Given the description of an element on the screen output the (x, y) to click on. 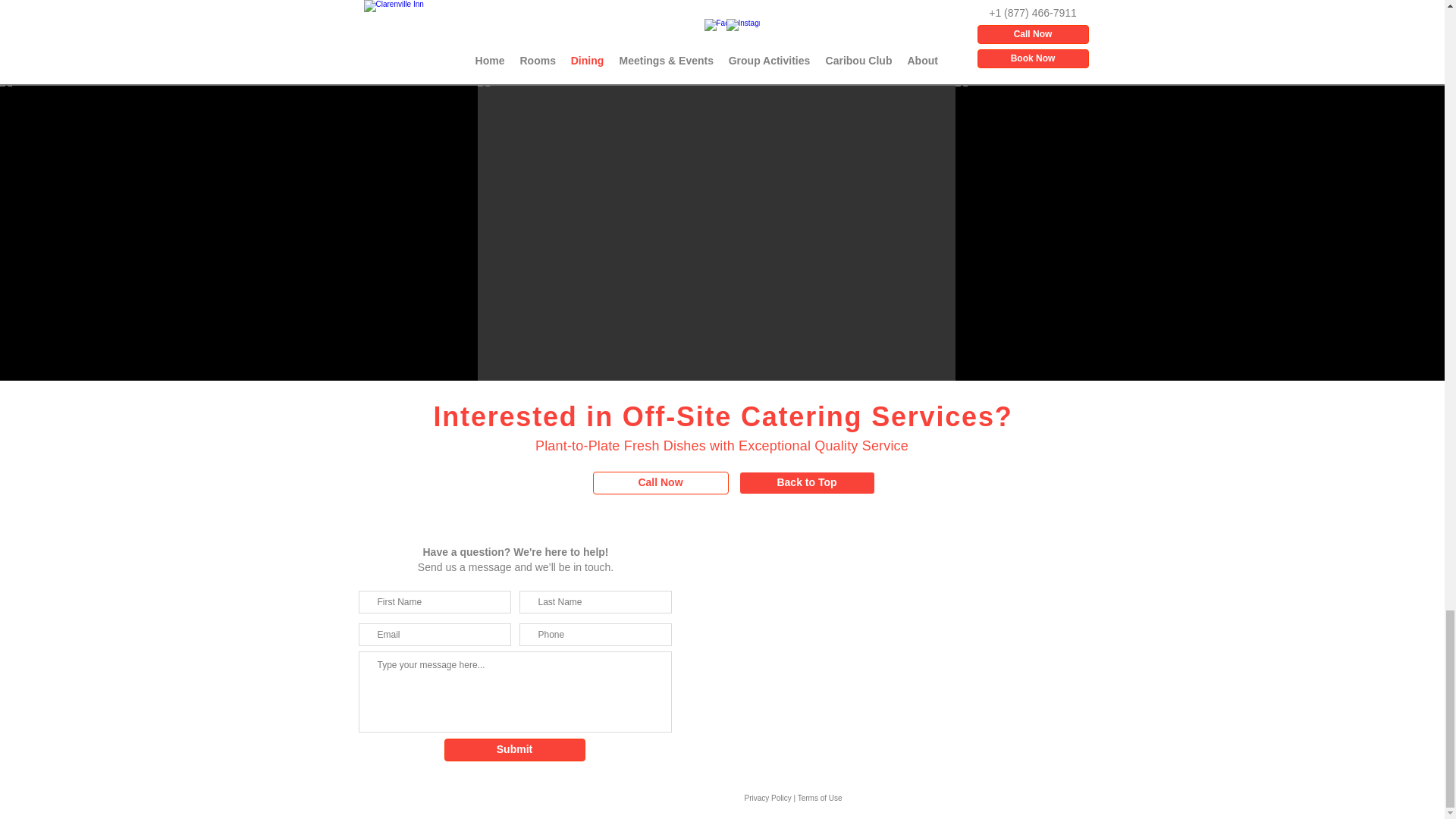
Call Now (660, 482)
Back to Top (806, 482)
Privacy Policy (768, 797)
Submit (514, 749)
Full Menu (722, 35)
